Given the description of an element on the screen output the (x, y) to click on. 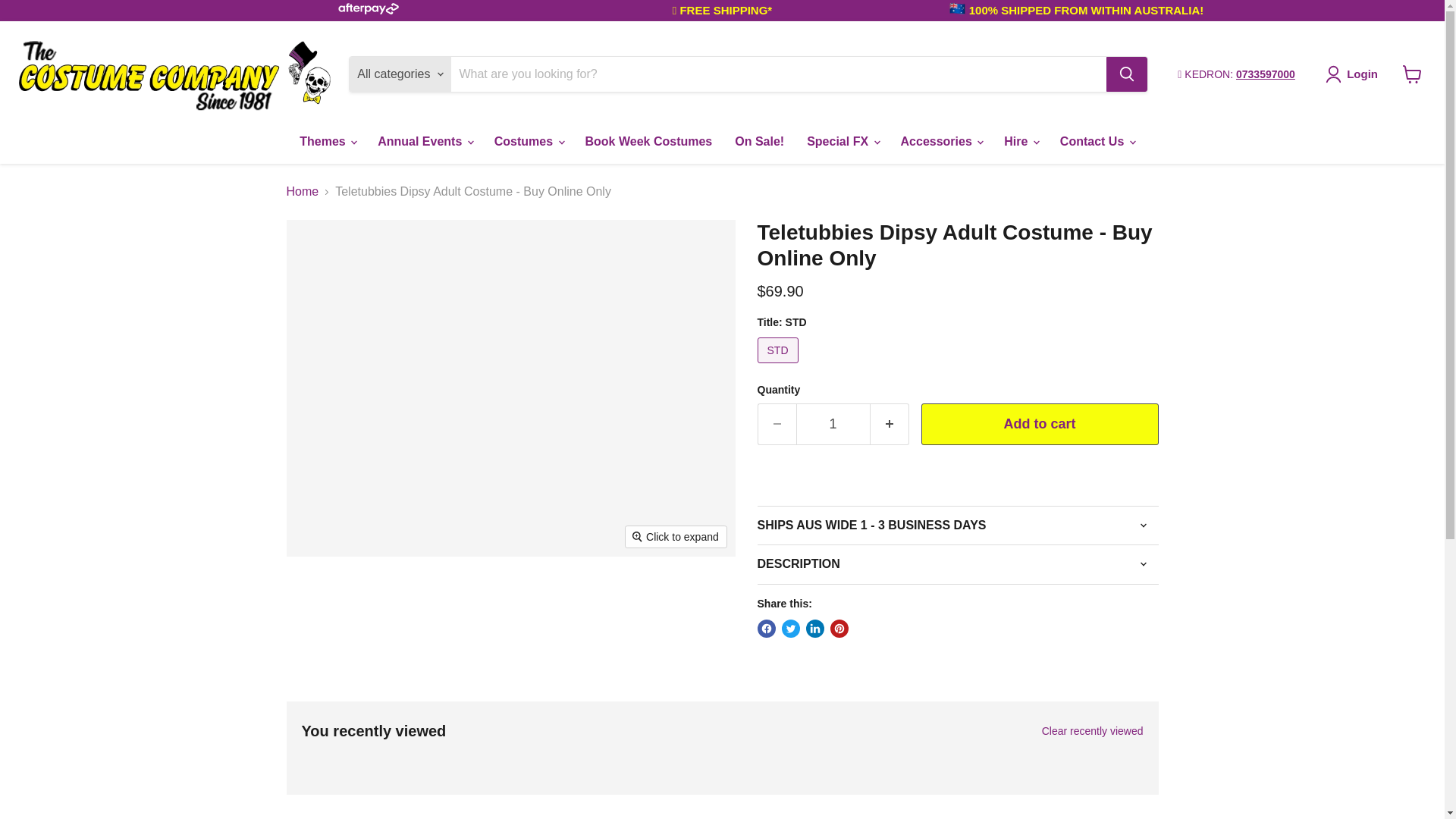
0733597000 (1265, 73)
1 (833, 424)
View cart (1411, 73)
Login (1354, 74)
tel:0733597000 (1265, 73)
